Given the description of an element on the screen output the (x, y) to click on. 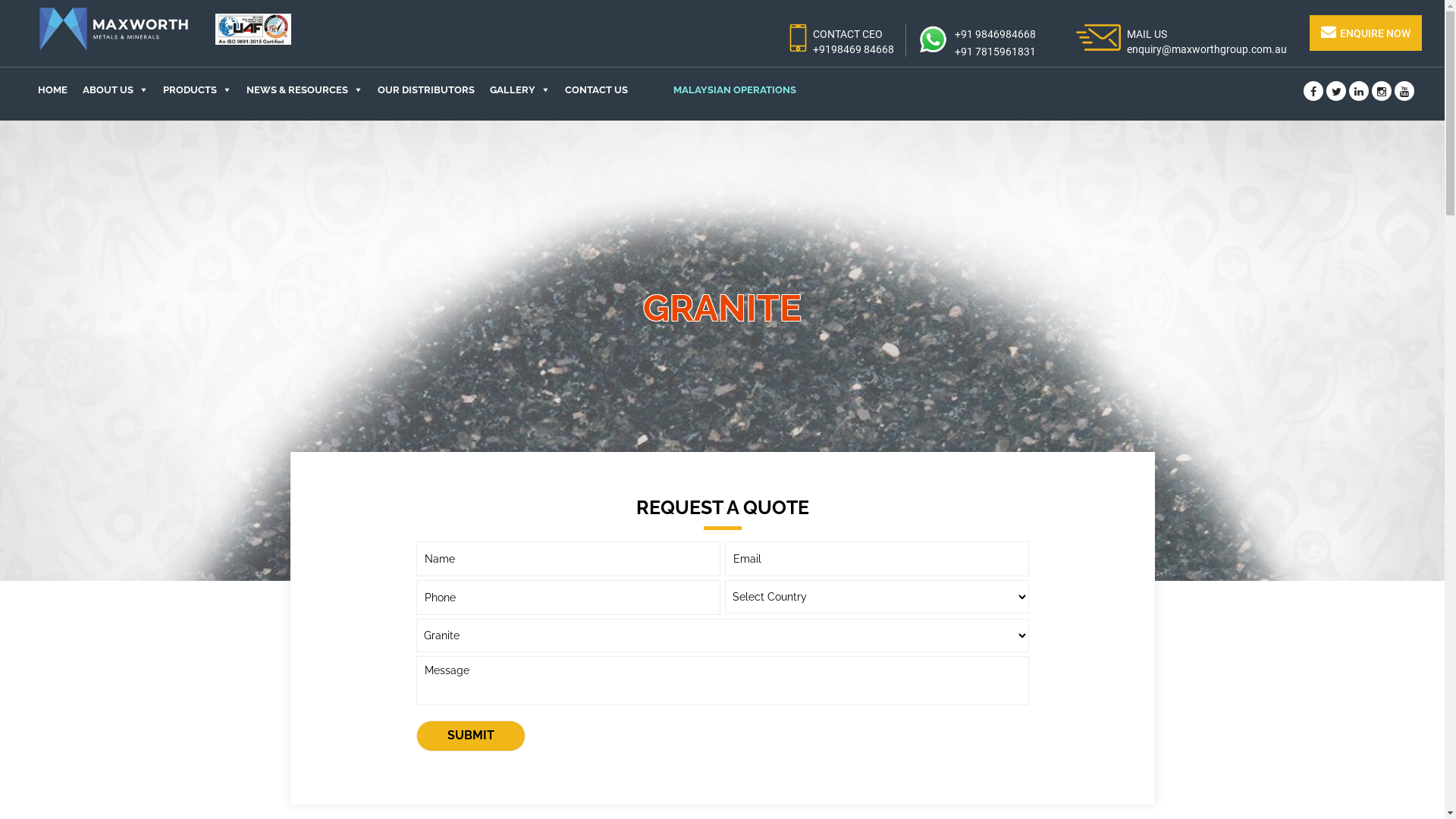
HOME Element type: text (52, 90)
+91 9846984668 Element type: text (994, 34)
ENQUIRE NOW Element type: text (1365, 32)
Contact CEO Element type: hover (797, 37)
ABOUT US Element type: text (115, 90)
Email Now Element type: hover (1098, 37)
NEWS & RESOURCES Element type: text (304, 90)
enquiry@maxworthgroup.com.au Element type: text (1206, 49)
GALLERY Element type: text (519, 90)
PRODUCTS Element type: text (196, 90)
+9198469 84668 Element type: text (853, 49)
Maxworth International Element type: hover (113, 28)
Granite Mineral Element type: hover (722, 350)
OUR DISTRIBUTORS Element type: text (426, 90)
MALAYSIAN OPERATIONS Element type: text (719, 90)
CONTACT US Element type: text (596, 90)
+91 7815961831 Element type: text (994, 51)
Call Now Element type: hover (932, 39)
